Given the description of an element on the screen output the (x, y) to click on. 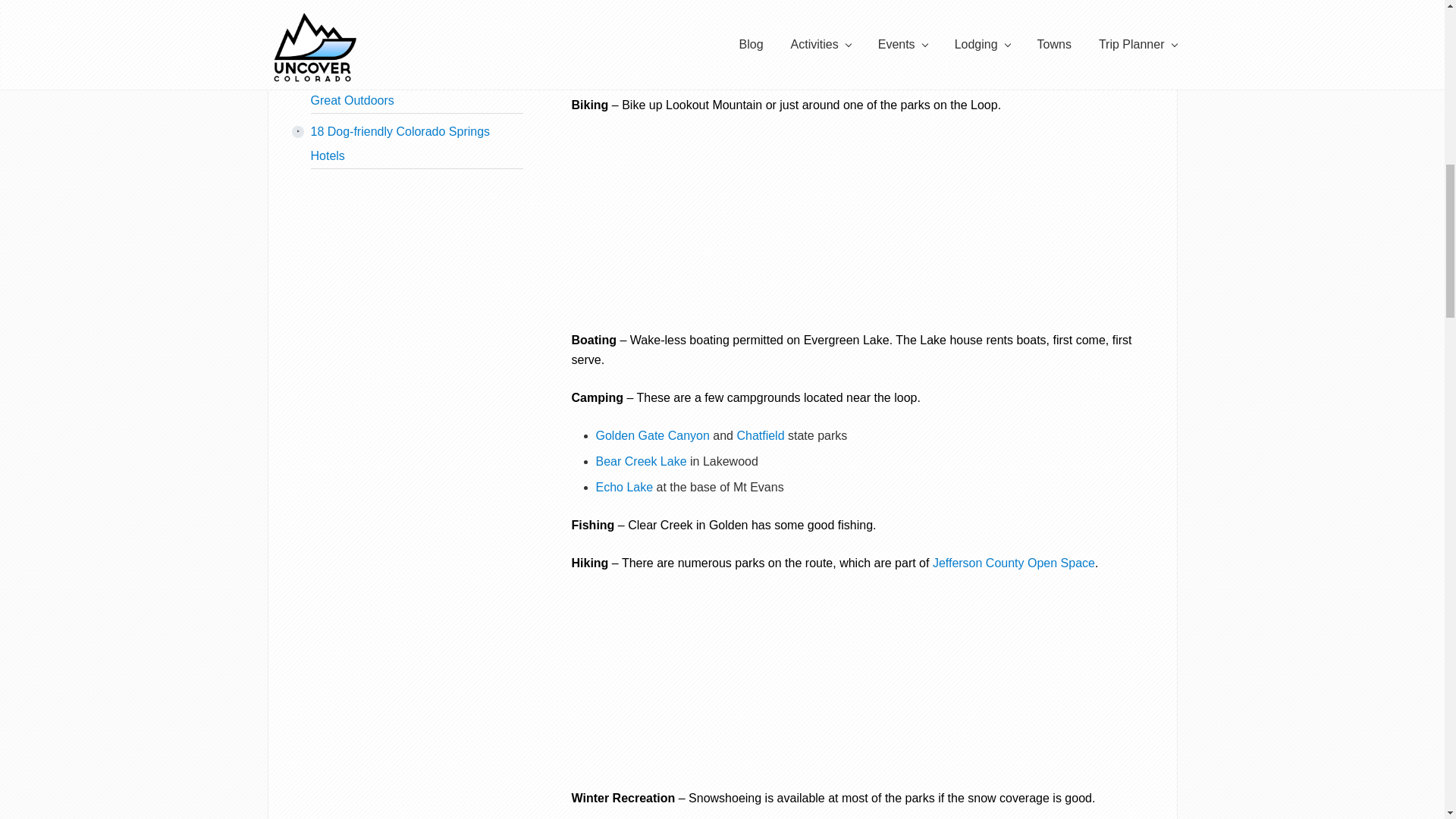
Chatfield State Parks (760, 435)
Golden Gate Canyon State Park (652, 435)
Echo Lake (624, 486)
Bear Creek Lake Park (641, 461)
